Given the description of an element on the screen output the (x, y) to click on. 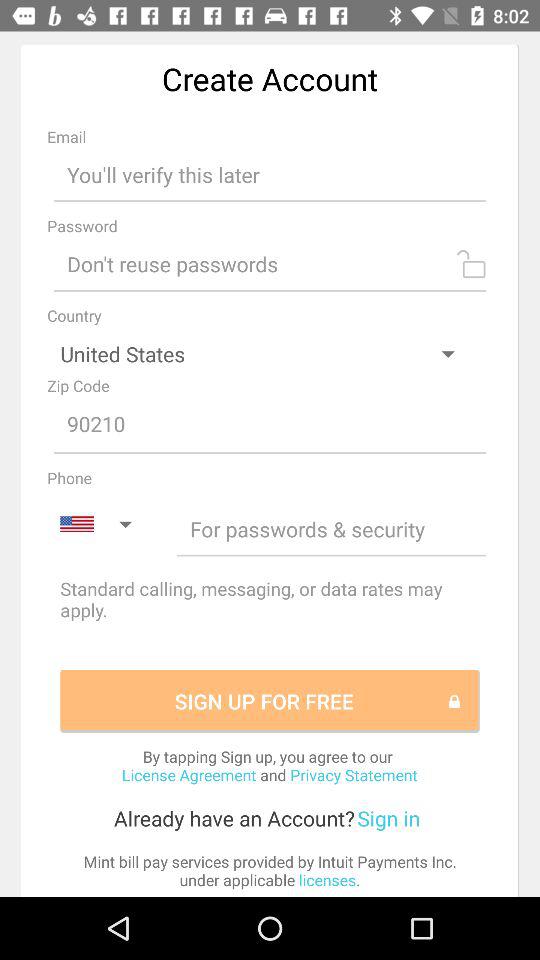
click mint bill pay item (269, 870)
